Given the description of an element on the screen output the (x, y) to click on. 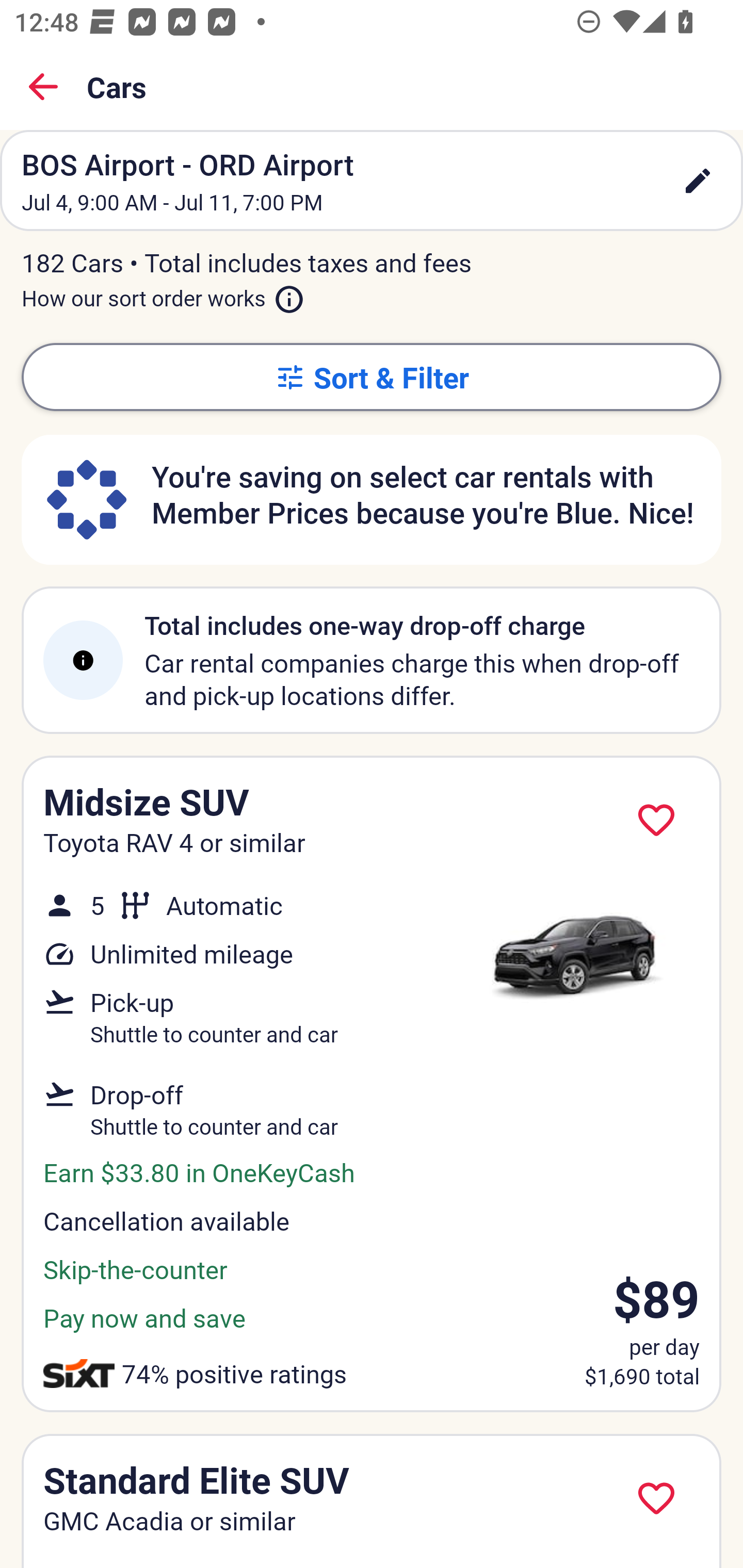
Back (43, 86)
edit (697, 180)
How our sort order works (163, 294)
Sort & Filter (371, 376)
